Given the description of an element on the screen output the (x, y) to click on. 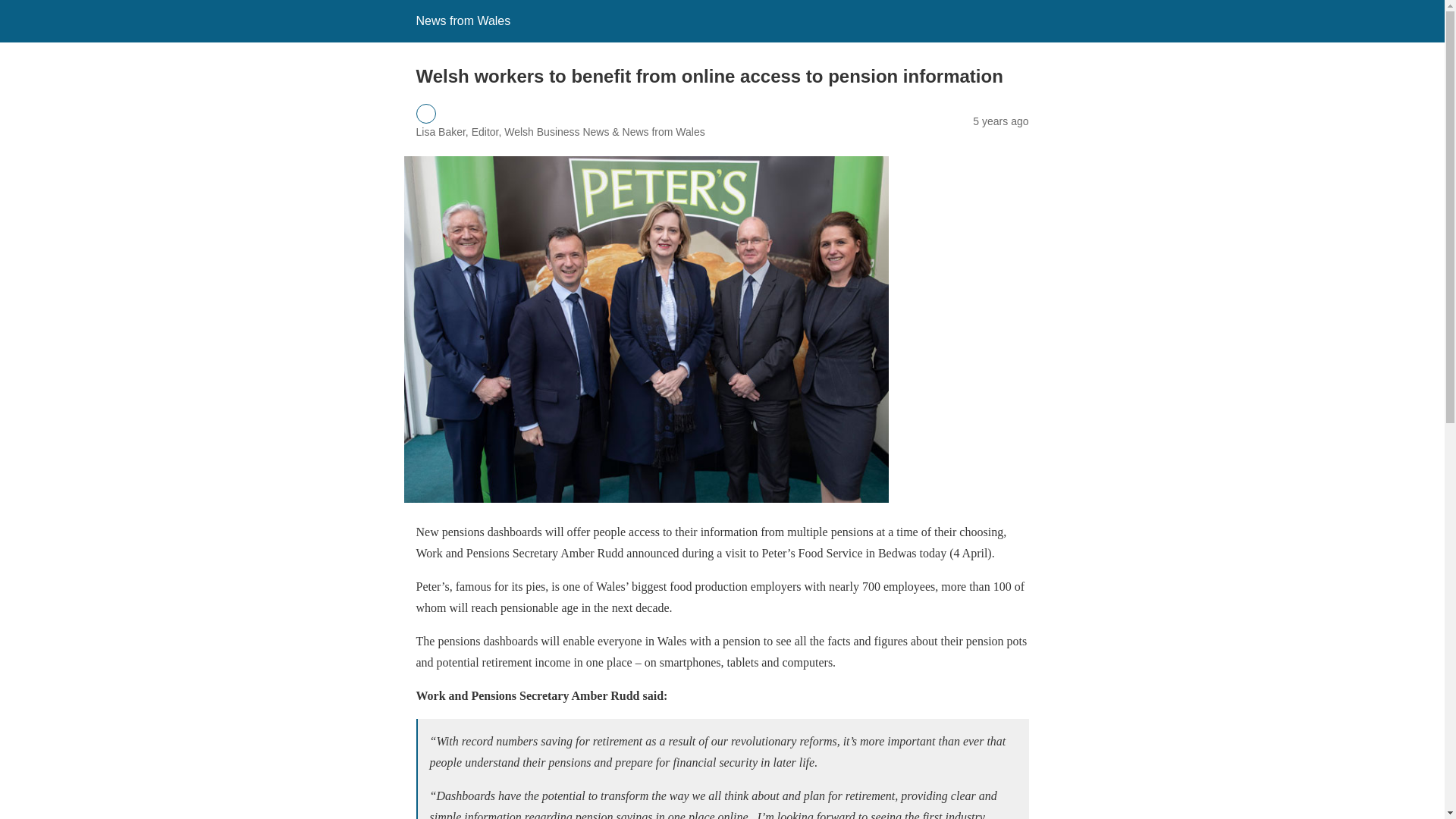
News from Wales (462, 20)
